Given the description of an element on the screen output the (x, y) to click on. 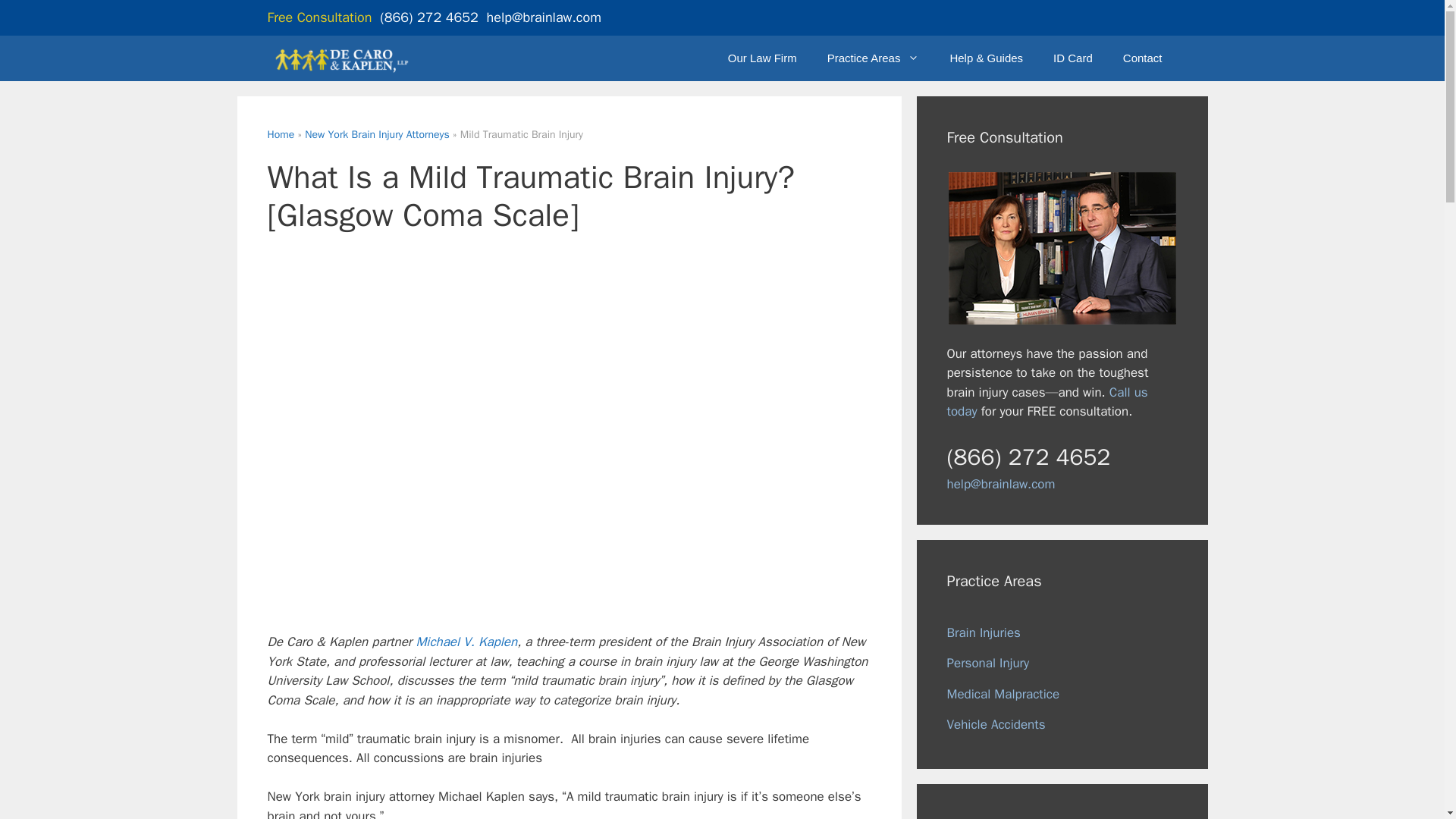
Practice Areas (873, 58)
Our Law Firm (762, 58)
ID Card (1073, 58)
